Given the description of an element on the screen output the (x, y) to click on. 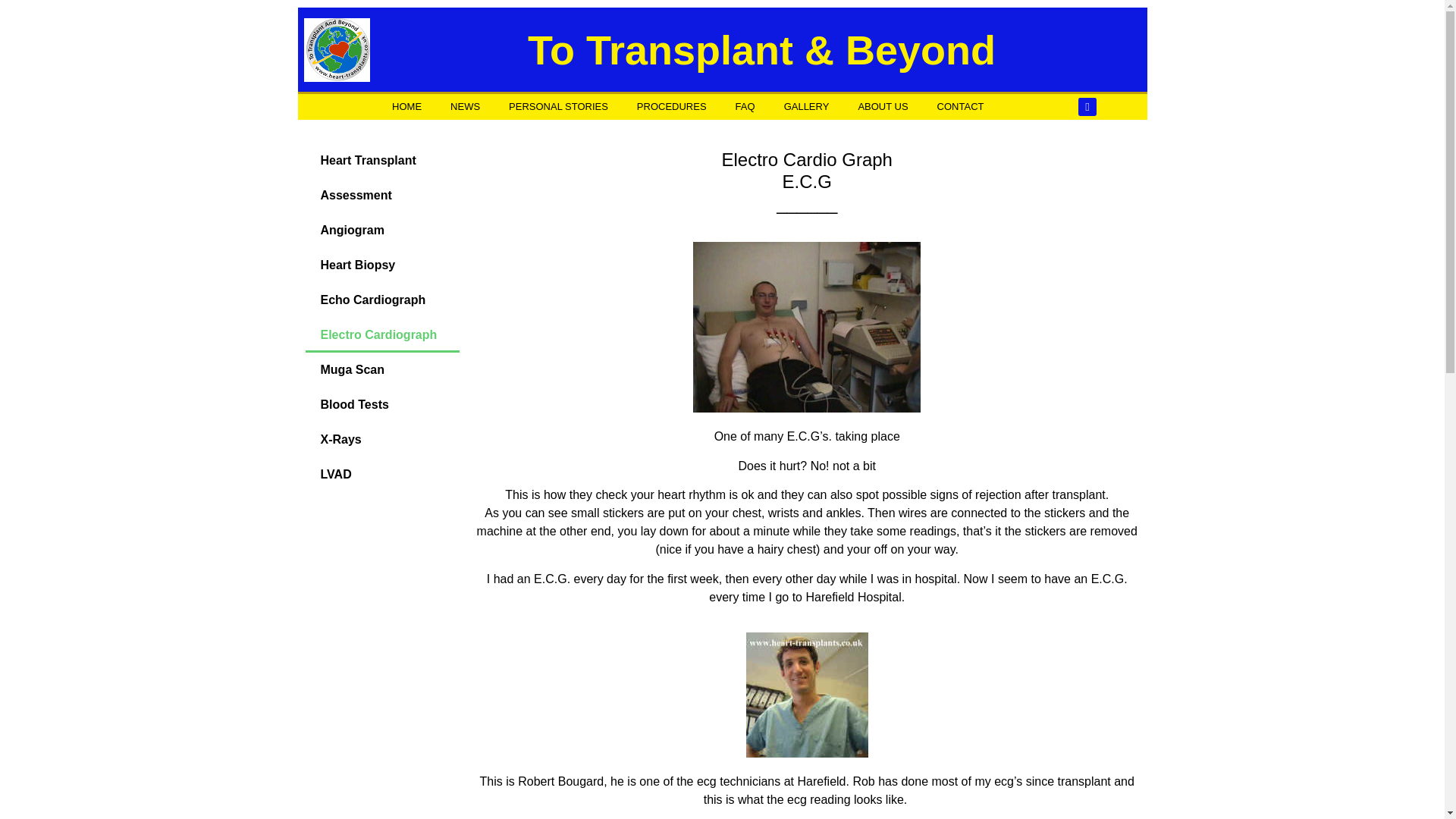
PROCEDURES (671, 106)
NEWS (465, 106)
ABOUT US (882, 106)
CONTACT (960, 106)
PERSONAL STORIES (559, 106)
FAQ (745, 106)
Heart Biopsy (382, 265)
X-Rays (382, 439)
Blood Tests (382, 404)
LVAD (382, 474)
Heart Transplant (382, 160)
Muga Scan (382, 369)
Electro Cardiograph (382, 334)
Angiogram (382, 230)
Assessment (382, 195)
